Given the description of an element on the screen output the (x, y) to click on. 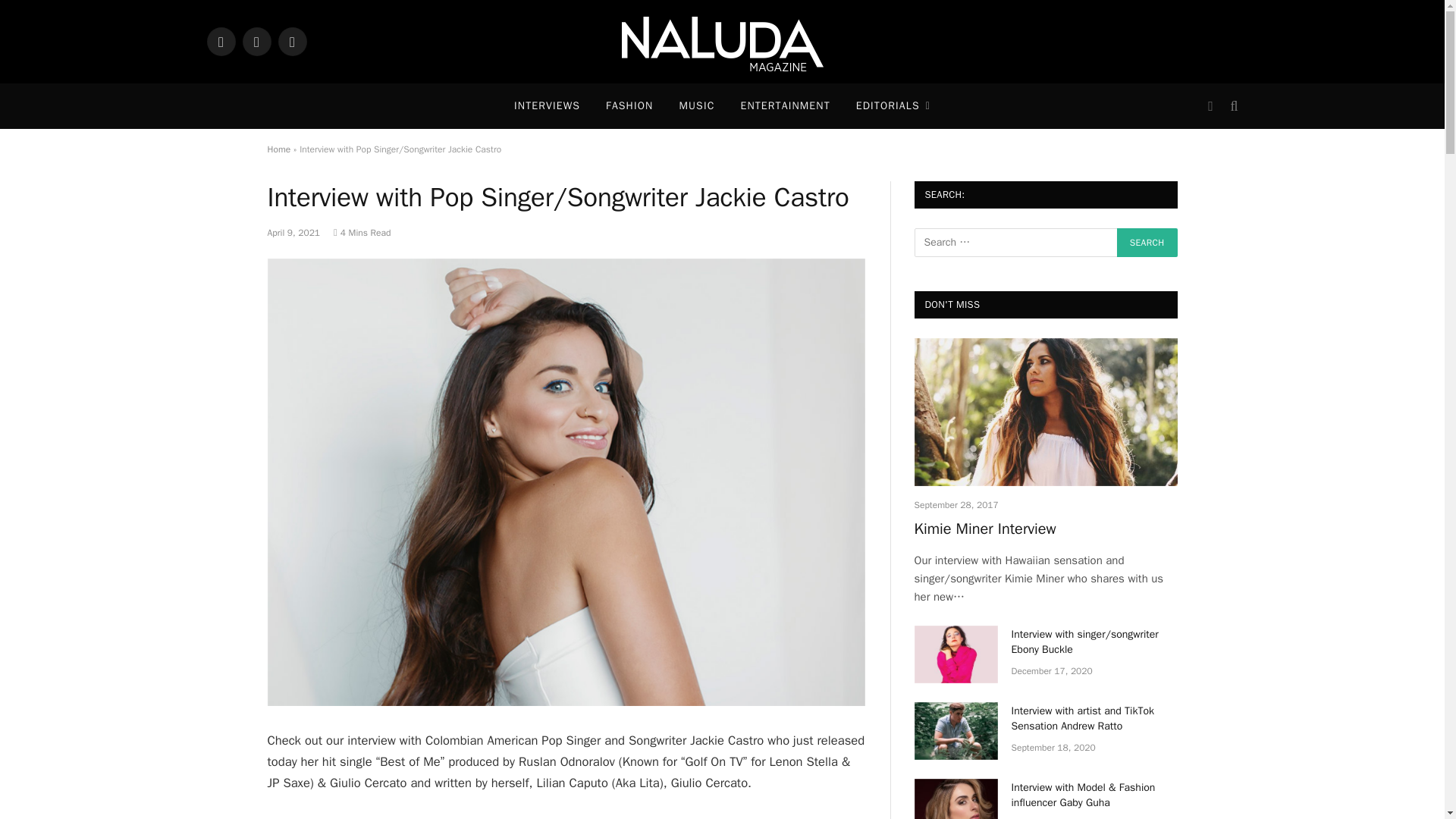
Facebook (256, 41)
Home (277, 149)
ENTERTAINMENT (784, 105)
INTERVIEWS (546, 105)
MUSIC (695, 105)
Instagram (220, 41)
Search (1146, 242)
EDITORIALS (893, 105)
Naluda Magazine (721, 41)
Search (1146, 242)
Switch to Dark Design - easier on eyes. (1209, 106)
FASHION (628, 105)
